Given the description of an element on the screen output the (x, y) to click on. 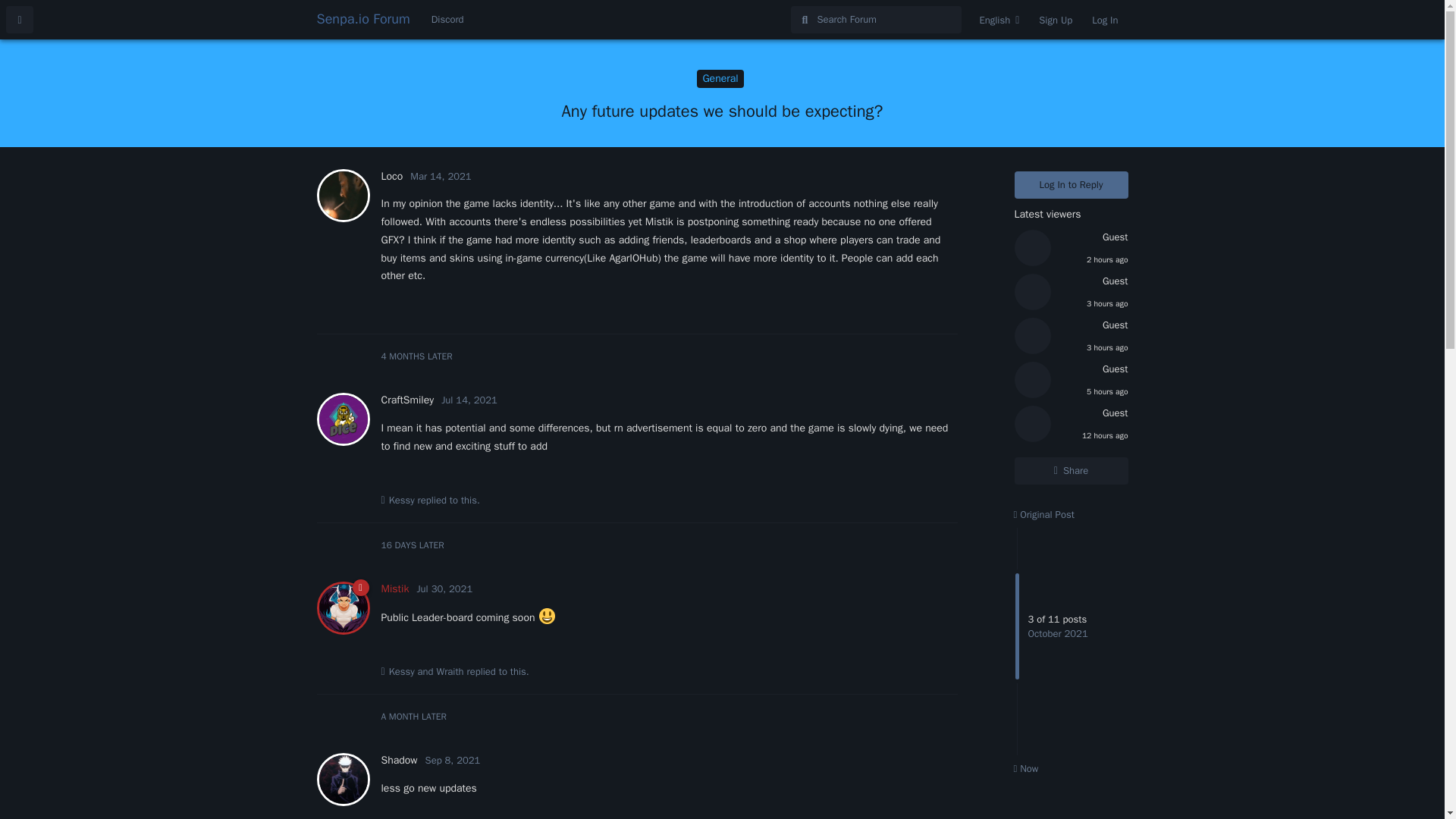
Senpa.io Forum (363, 18)
Mar 14, 2021 (440, 175)
General Senpa.io Discussion here (719, 78)
Sign Up (1055, 19)
Log In to Reply (1071, 185)
English (999, 19)
Wednesday, July 14, 2021 5:37 AM (469, 399)
General (719, 78)
Friday, July 30, 2021 2:02 PM (443, 588)
Share (1071, 470)
